Given the description of an element on the screen output the (x, y) to click on. 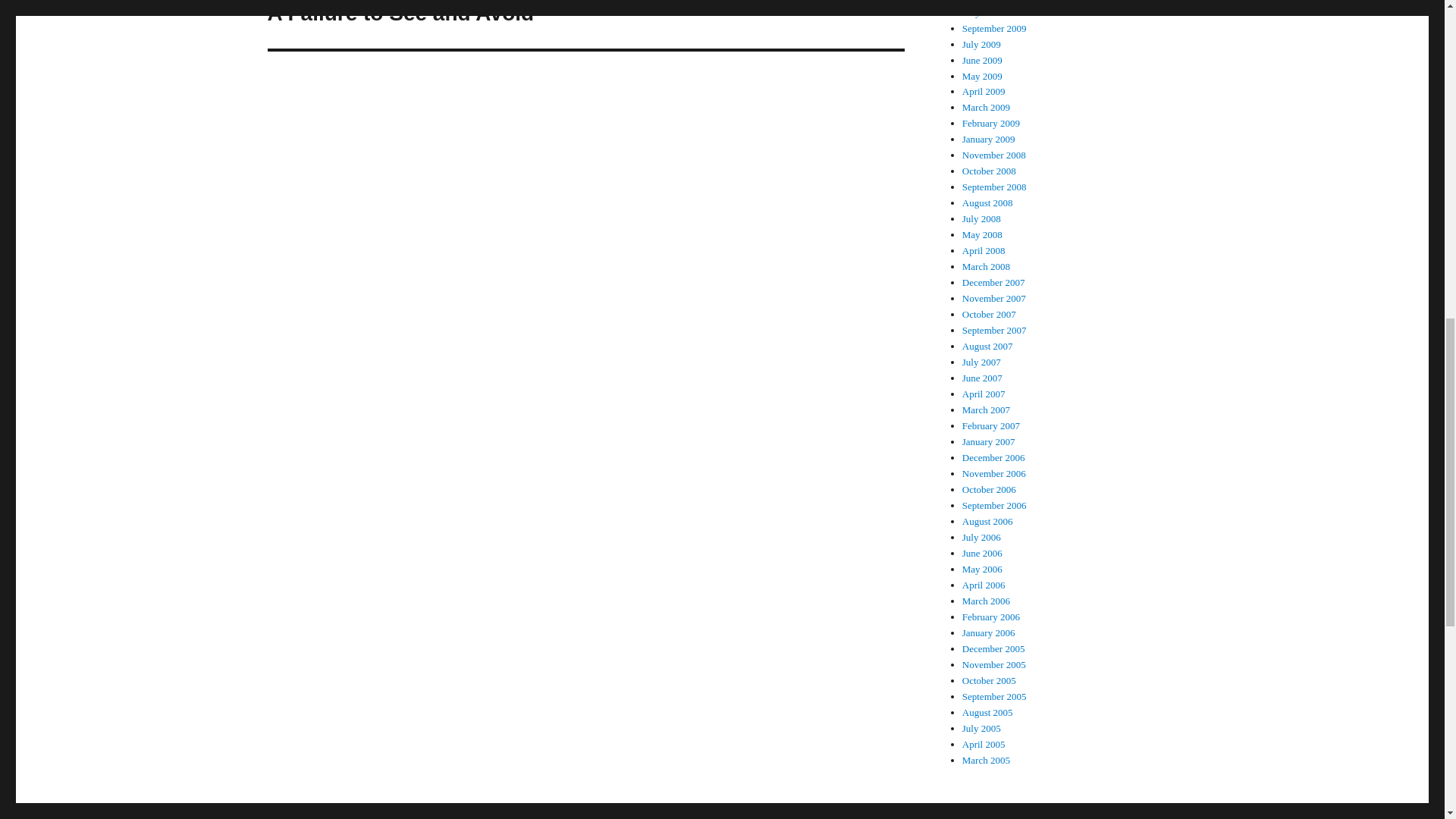
May 2010 (982, 12)
June 2009 (982, 60)
May 2009 (982, 75)
October 2008 (989, 170)
July 2009 (981, 43)
September 2008 (994, 186)
November 2008 (585, 24)
September 2009 (994, 154)
March 2009 (994, 28)
January 2009 (986, 107)
June 2010 (988, 138)
February 2009 (982, 1)
April 2009 (991, 122)
